Given the description of an element on the screen output the (x, y) to click on. 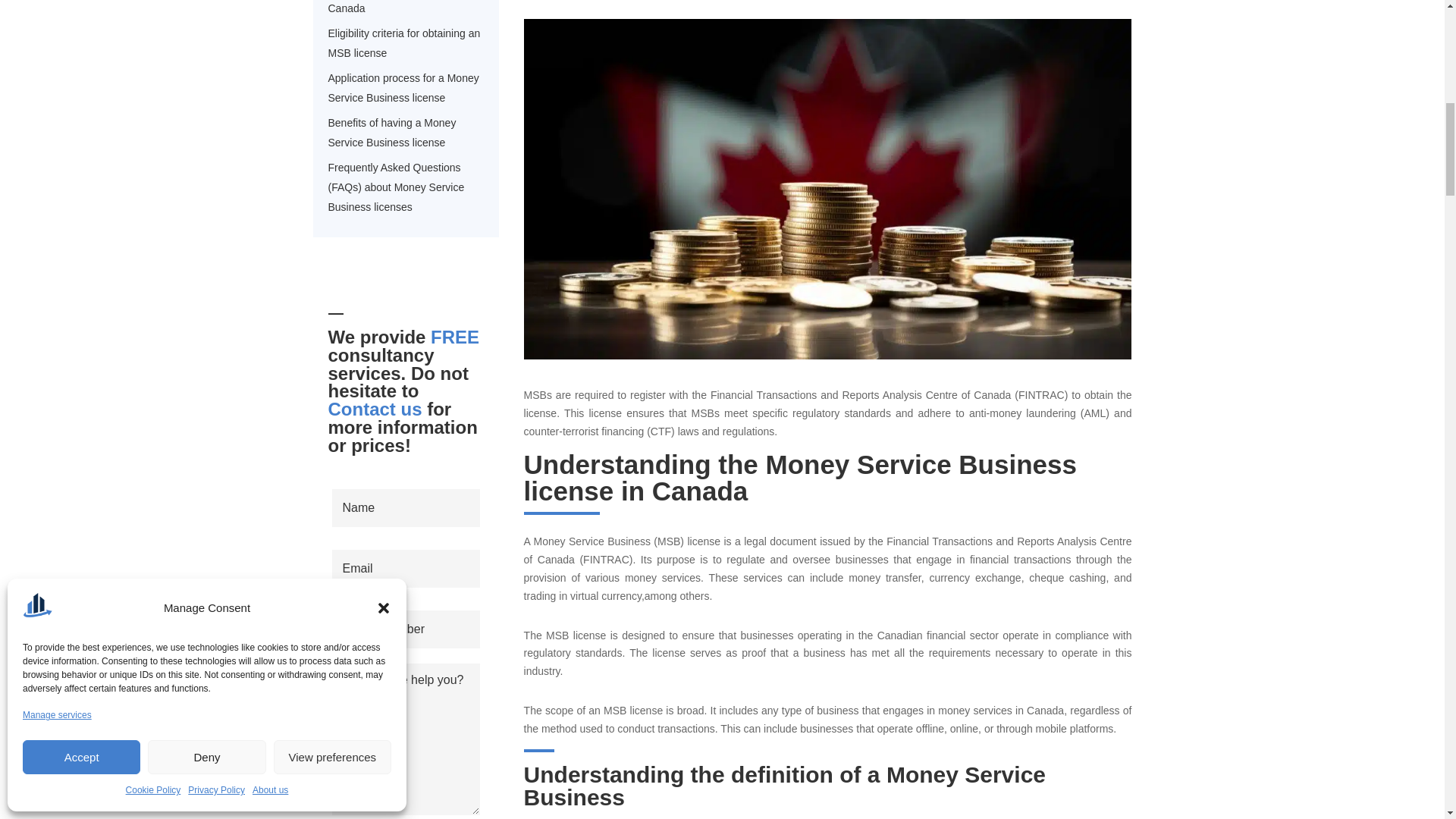
Benefits of having a Money Service Business license (391, 132)
Understanding the Money Service Business license in Canada (392, 9)
Application process for a Money Service Business license (403, 87)
Eligibility criteria for obtaining an MSB license (403, 43)
